Given the description of an element on the screen output the (x, y) to click on. 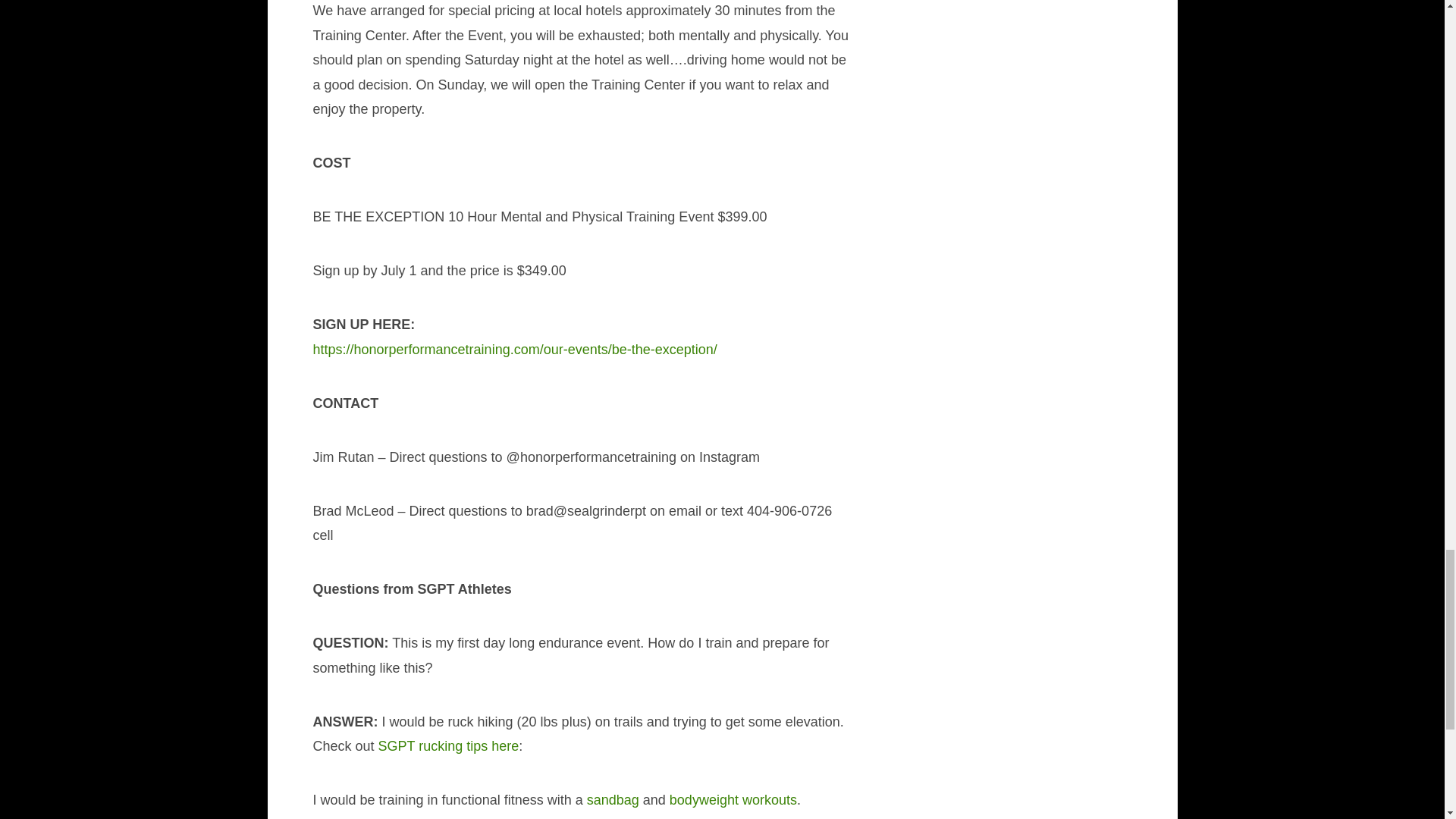
sandbag (612, 799)
bodyweight workouts (732, 799)
SGPT rucking tips here (448, 745)
